Given the description of an element on the screen output the (x, y) to click on. 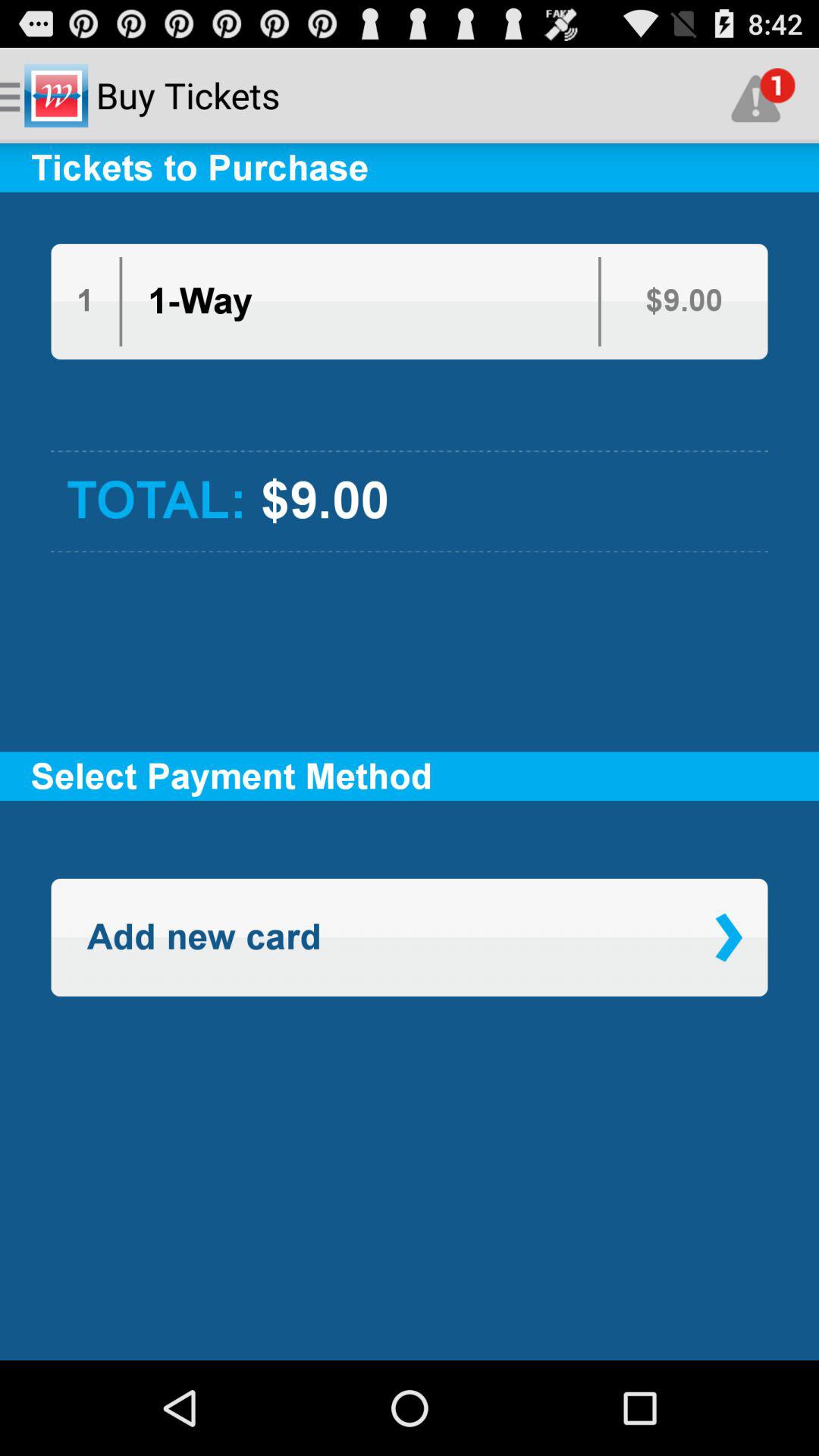
choose the total: $9.00 item (409, 501)
